Given the description of an element on the screen output the (x, y) to click on. 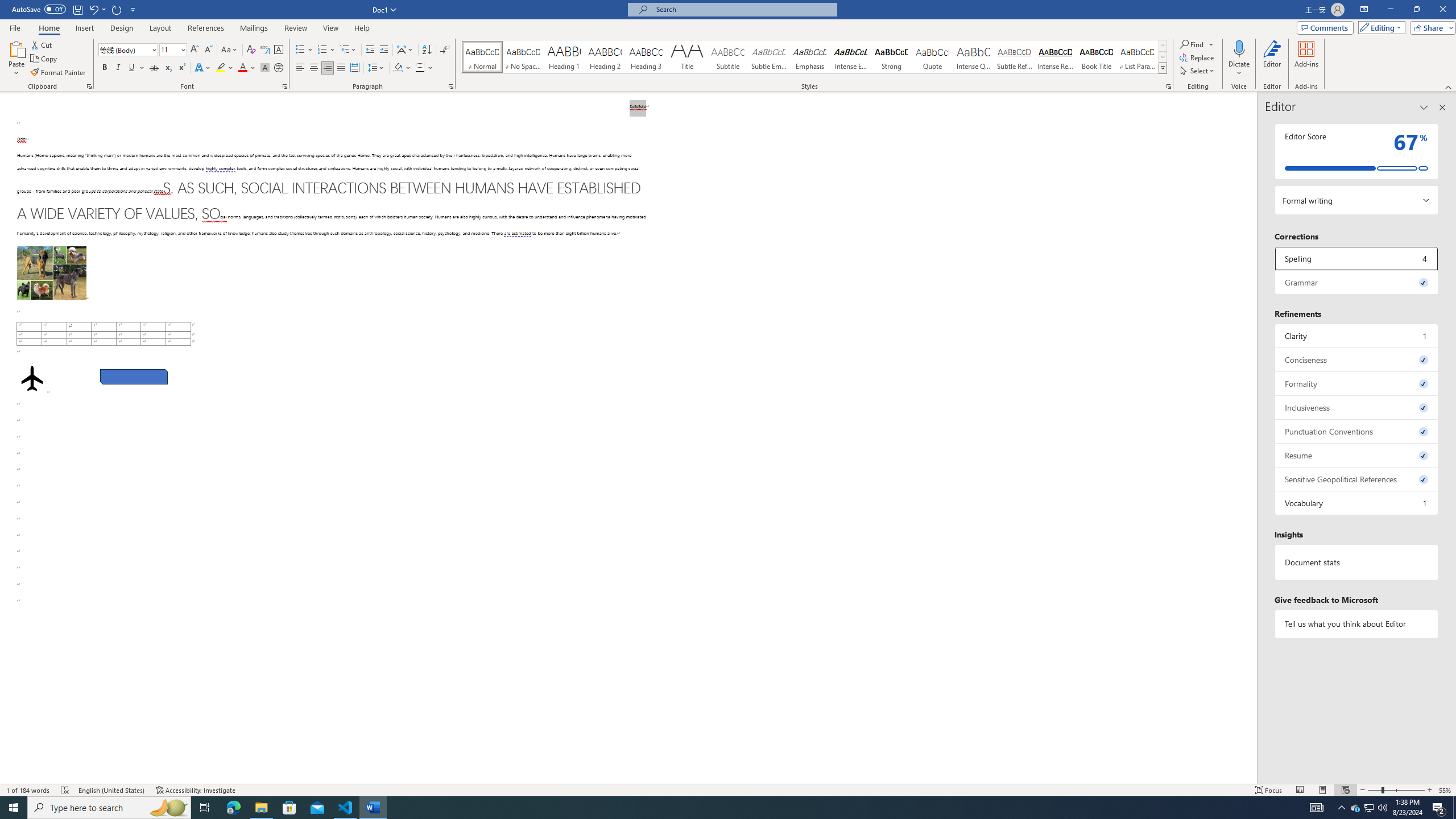
Clarity, 1 issue. Press space or enter to review items. (1356, 335)
